Given the description of an element on the screen output the (x, y) to click on. 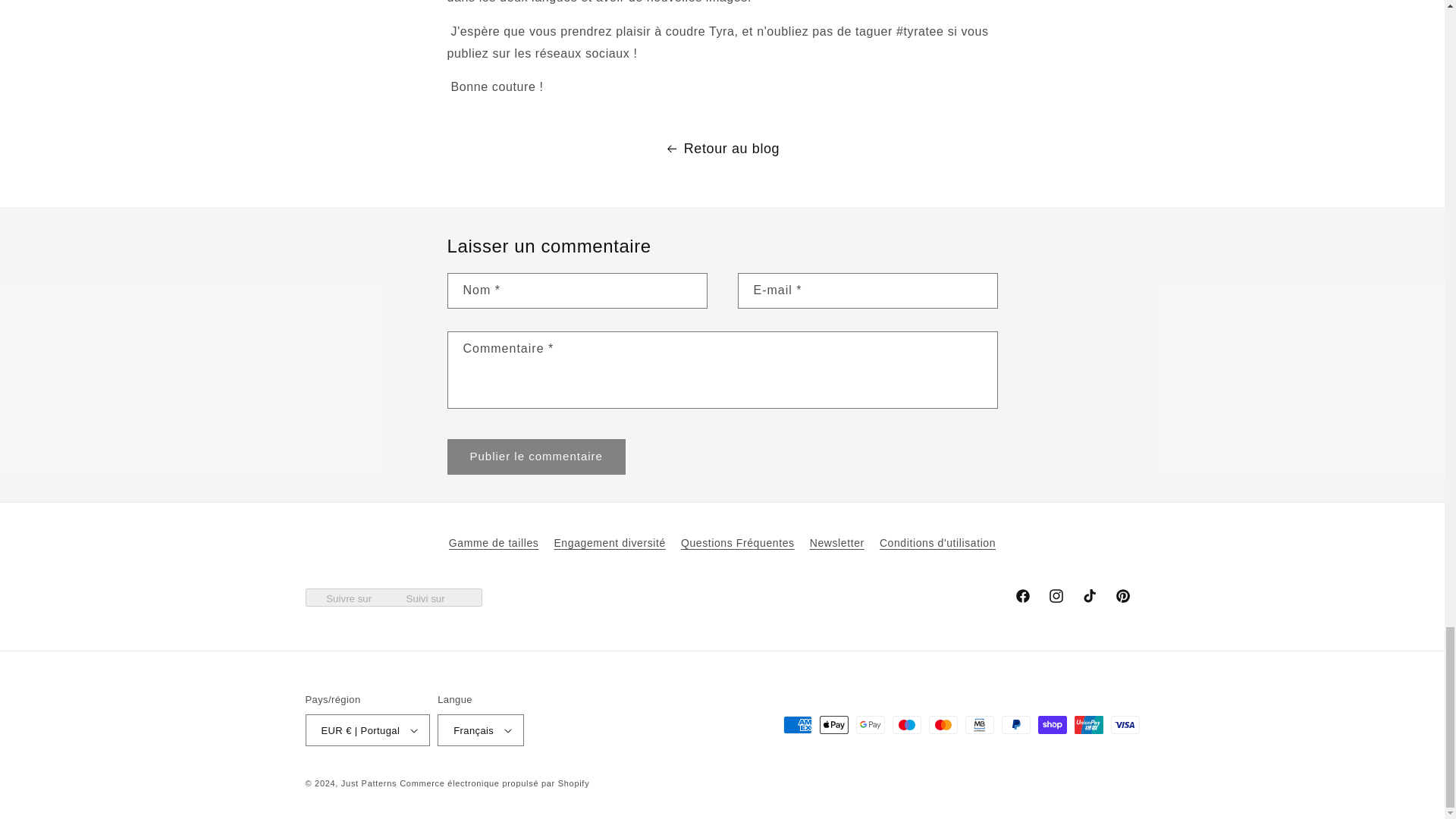
Gamme de tailles (493, 544)
Publier le commentaire (536, 456)
Publier le commentaire (536, 456)
